Given the description of an element on the screen output the (x, y) to click on. 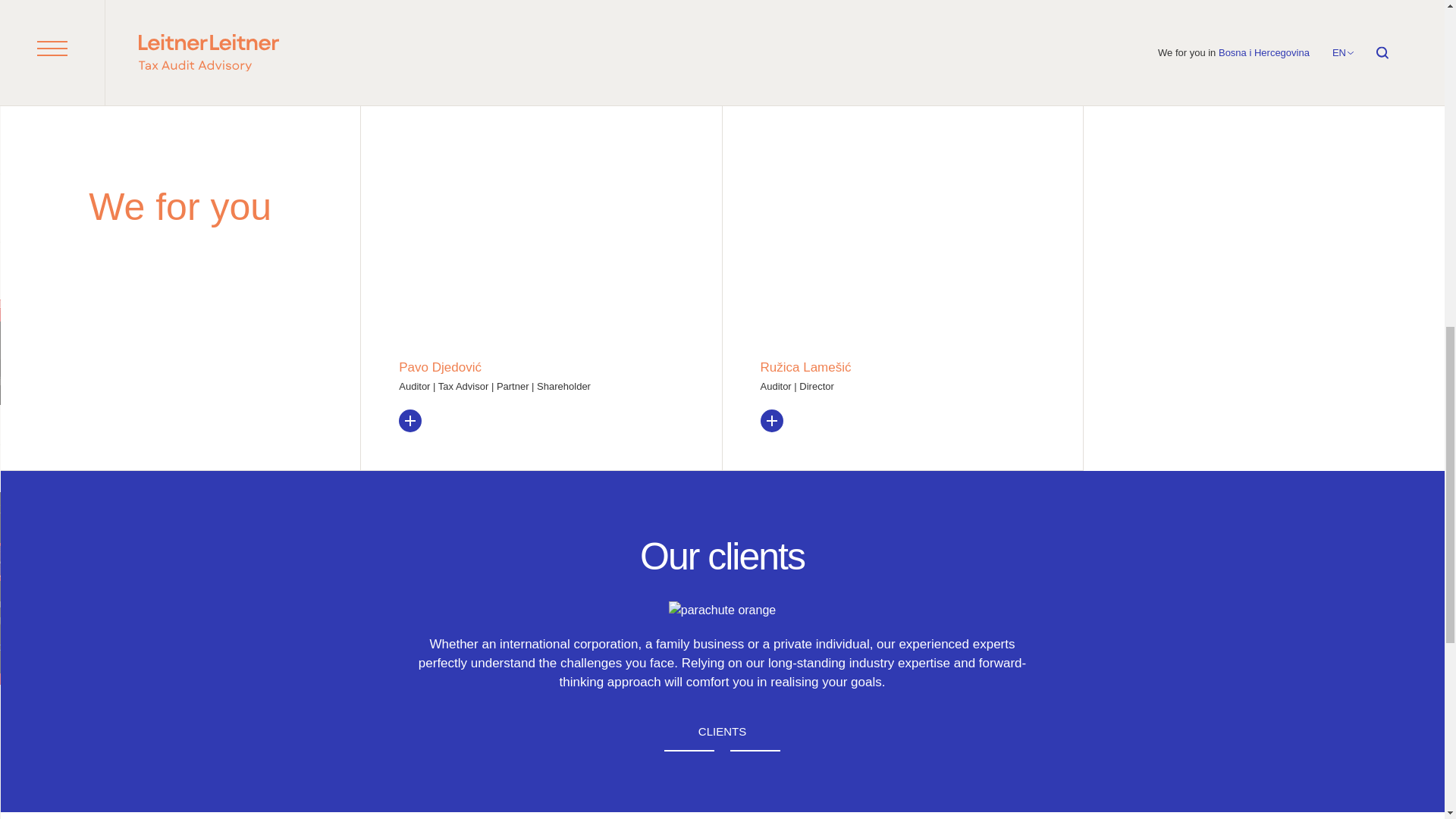
Clients (721, 732)
